Given the description of an element on the screen output the (x, y) to click on. 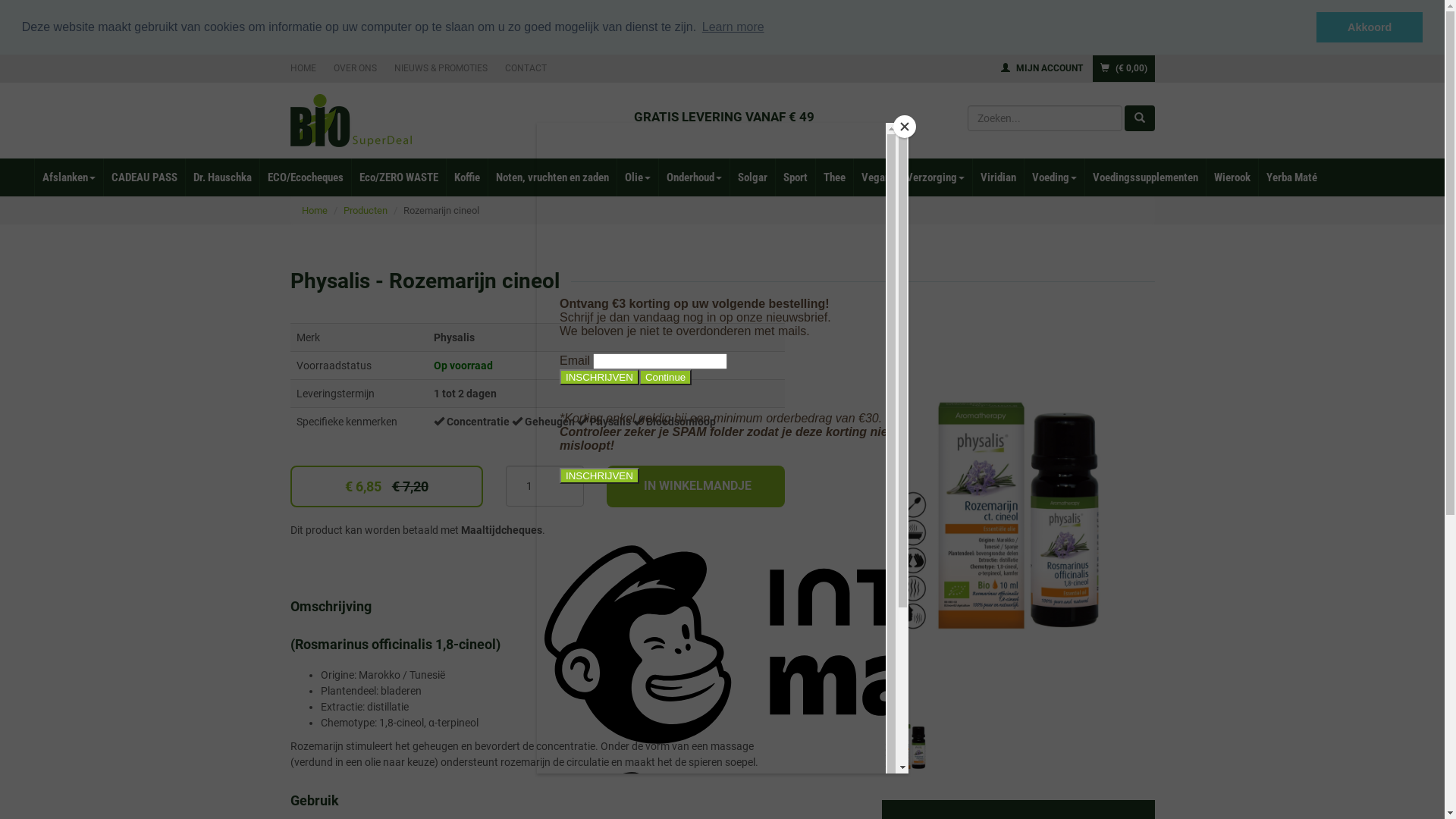
Akkoord Element type: text (1369, 27)
Noten, vruchten en zaden Element type: text (551, 176)
Producten Element type: text (364, 210)
HOME Element type: text (306, 67)
Verzorging Element type: text (934, 176)
Thee Element type: text (834, 176)
ECO/Ecocheques Element type: text (305, 176)
Afslanken Element type: text (68, 176)
MIJN ACCOUNT Element type: text (1041, 67)
IN WINKELMANDJE Element type: text (695, 486)
Onderhoud Element type: text (693, 176)
Voedingssupplementen Element type: text (1144, 176)
Voeding Element type: text (1053, 176)
Dr. Hauschka Element type: text (222, 176)
Olie Element type: text (637, 176)
Vegan Element type: text (875, 176)
Home Element type: text (314, 210)
Wierook Element type: text (1231, 176)
Eco/ZERO WASTE Element type: text (398, 176)
Koffie Element type: text (466, 176)
Solgar Element type: text (752, 176)
CONTACT Element type: text (525, 67)
CADEAU PASS Element type: text (144, 176)
NIEUWS & PROMOTIES Element type: text (440, 67)
Sport Element type: text (795, 176)
Viridian Element type: text (997, 176)
OVER ONS Element type: text (355, 67)
Learn more Element type: text (732, 26)
